Given the description of an element on the screen output the (x, y) to click on. 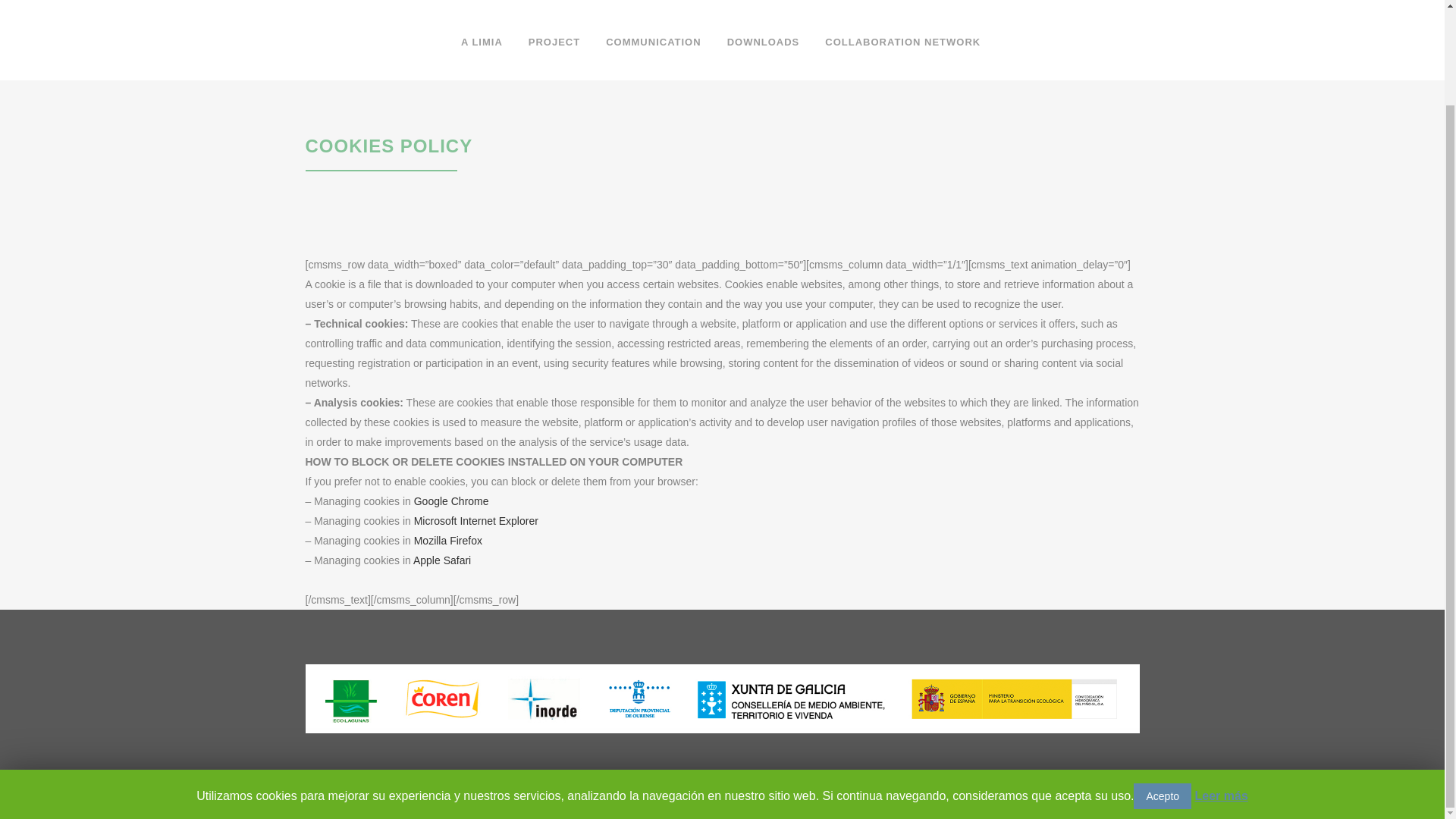
A LIMIA (481, 42)
PROJECT (553, 42)
COMMUNICATION (652, 42)
DOWNLOADS (763, 42)
COLLABORATION NETWORK (902, 42)
